Given the description of an element on the screen output the (x, y) to click on. 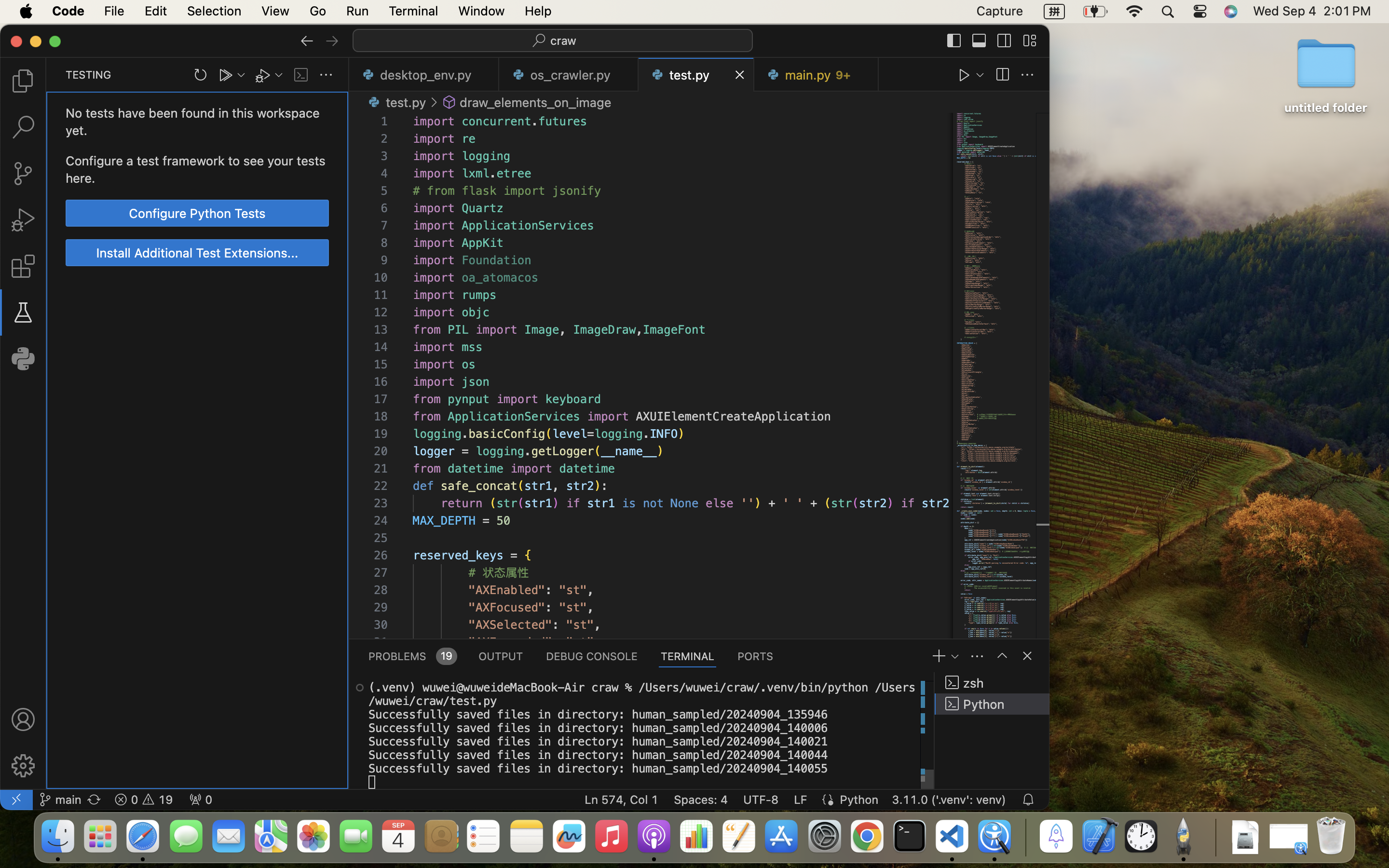
 Element type: AXCheckBox (953, 40)
Python  Element type: AXGroup (991, 703)
